Given the description of an element on the screen output the (x, y) to click on. 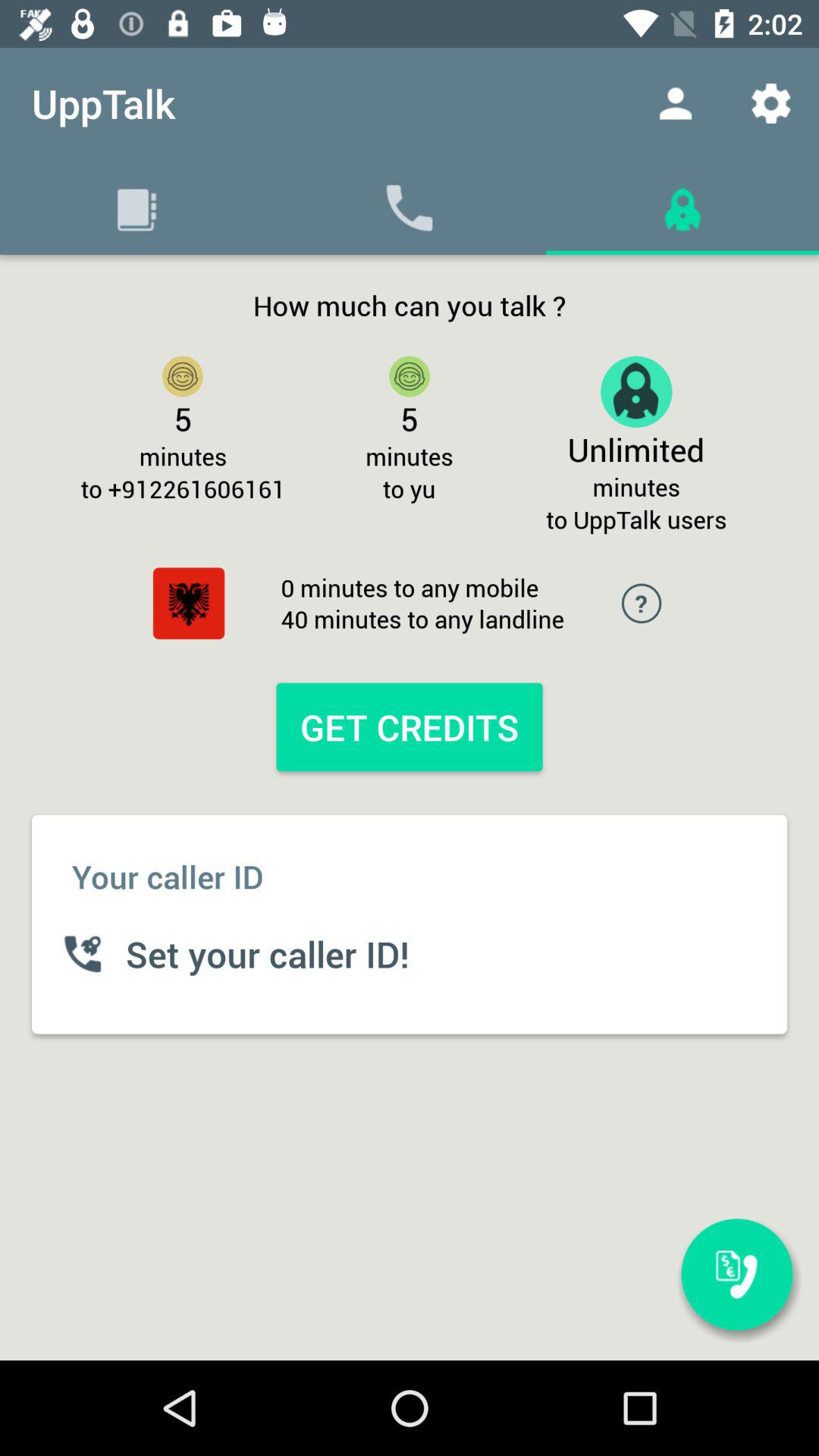
select icon at the bottom right corner (737, 1274)
